Given the description of an element on the screen output the (x, y) to click on. 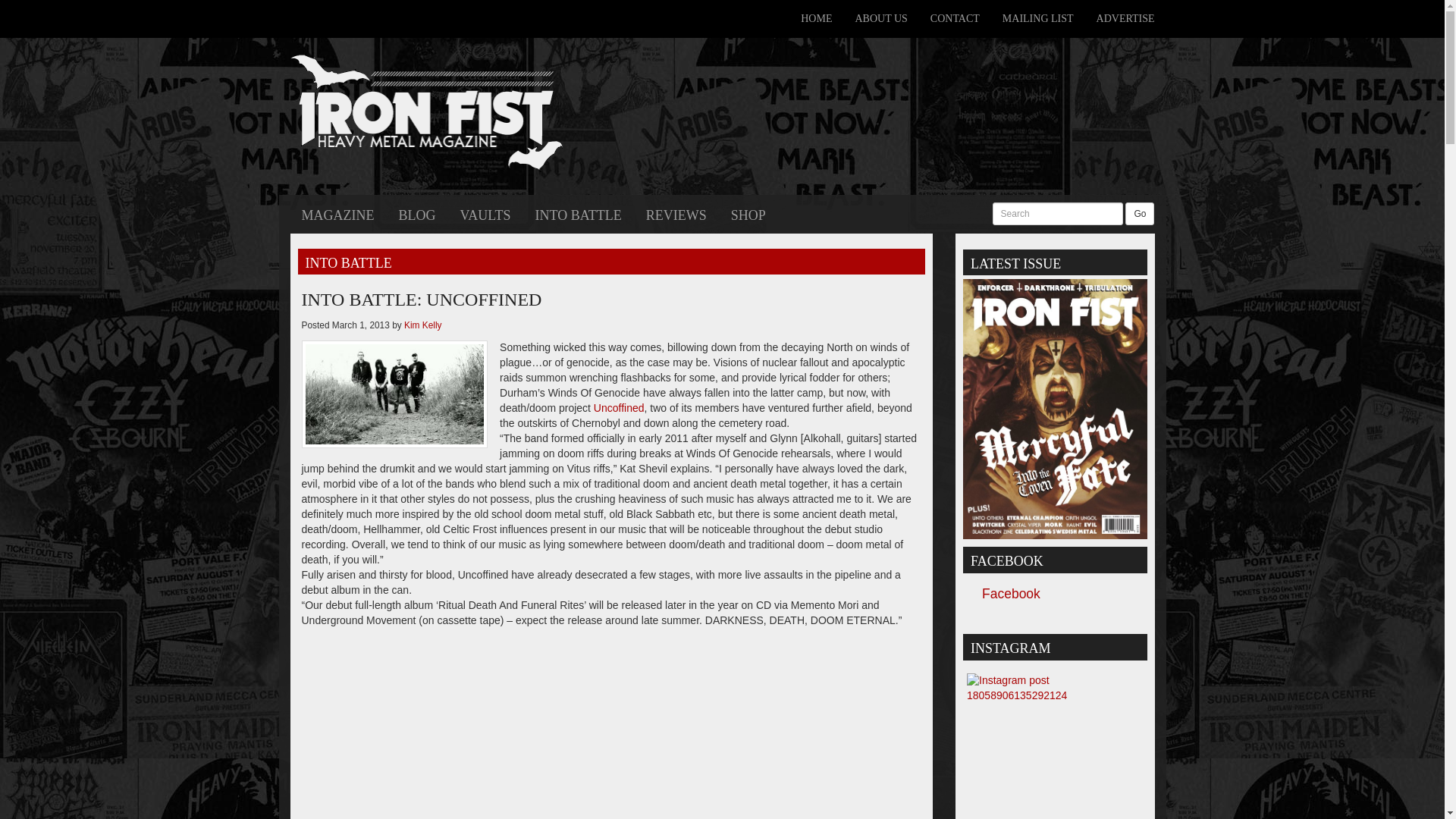
Home (816, 18)
INTO BATTLE (578, 213)
CONTACT (954, 18)
ABOUT US (880, 18)
Facebook (1011, 593)
VAULTS (485, 213)
Kim Kelly (423, 325)
BLOG (416, 213)
Uncoffined (619, 408)
ADVERTISE (1125, 18)
Go (1139, 213)
MAILING LIST (1037, 18)
About Us (880, 18)
INTO BATTLE (347, 263)
MAGAZINE (337, 213)
